Given the description of an element on the screen output the (x, y) to click on. 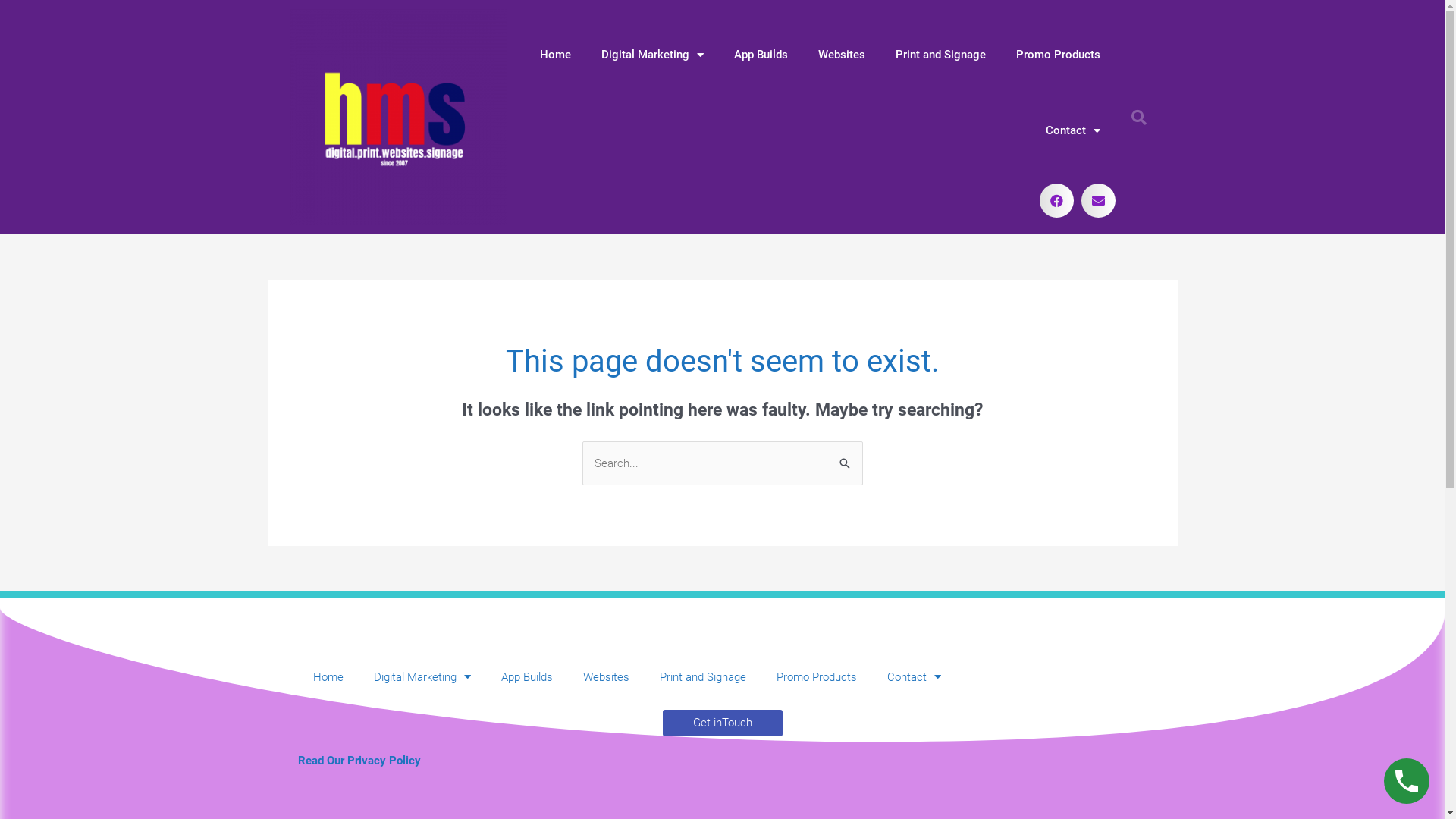
Contact Element type: text (914, 676)
Print and Signage Element type: text (939, 54)
Get inTouch Element type: text (722, 722)
Print and Signage Element type: text (702, 676)
App Builds Element type: text (526, 676)
Contact Element type: text (1071, 130)
App Builds Element type: text (760, 54)
Websites Element type: text (840, 54)
Promo Products Element type: text (816, 676)
Promo Products Element type: text (1058, 54)
Search Element type: text (845, 456)
Read Our Privacy Policy Element type: text (358, 760)
Home Element type: text (327, 676)
Home Element type: text (555, 54)
Digital Marketing Element type: text (651, 54)
Digital Marketing Element type: text (421, 676)
Websites Element type: text (605, 676)
